Given the description of an element on the screen output the (x, y) to click on. 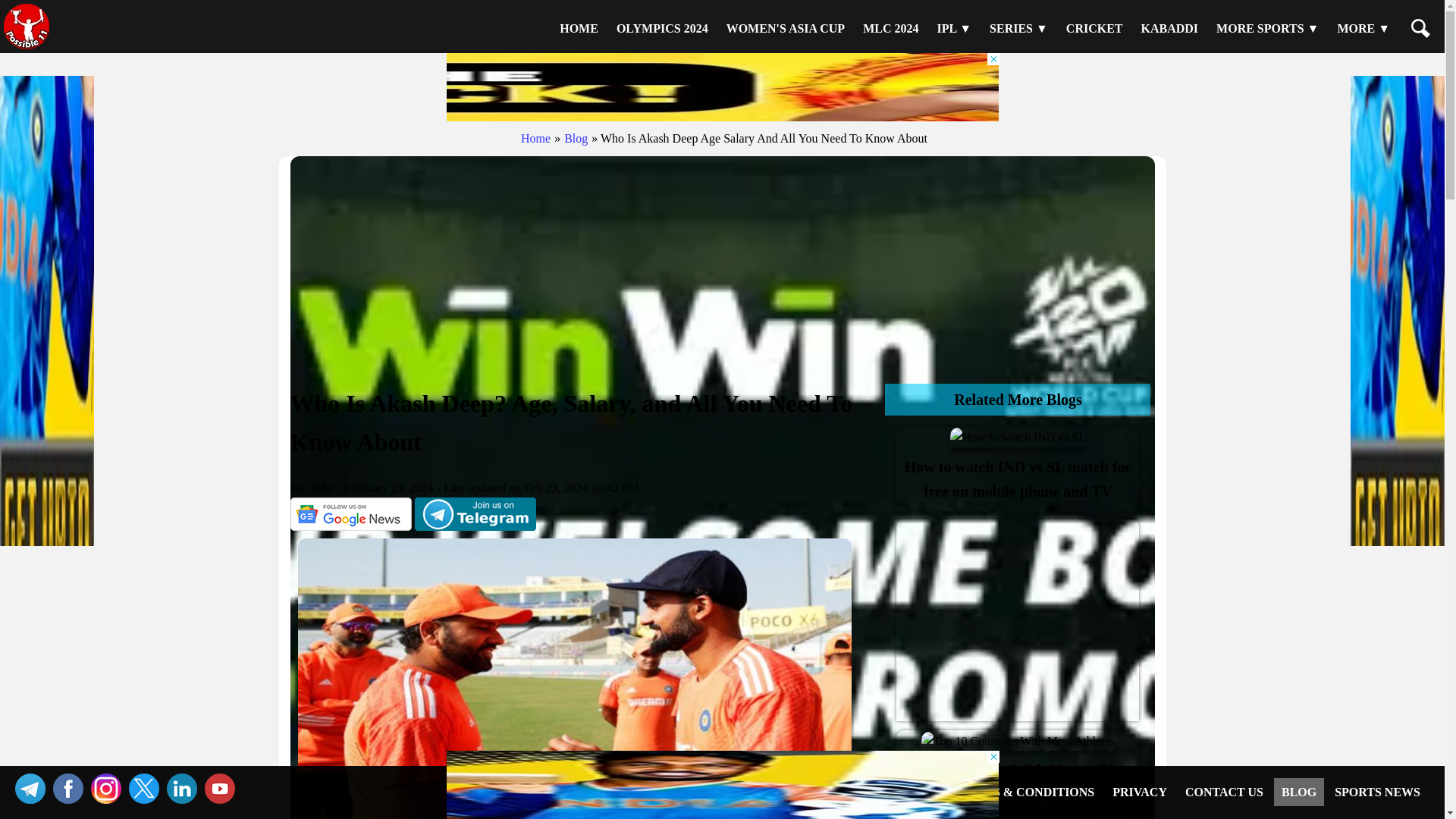
More Sports (1267, 28)
Olympics 2024 (662, 28)
Series (1018, 28)
Possible 11 (578, 28)
OLYMPICS 2024 (662, 28)
MLC 2024 (891, 28)
Cricket Prediction (1094, 28)
IPL Series (953, 28)
More Features (1363, 28)
HOME (578, 28)
CRICKET (1094, 28)
Kabaddi Prediction (1170, 28)
Womens Asia Cup 2024 (785, 28)
KABADDI (1170, 28)
WOMEN'S ASIA CUP (785, 28)
